Given the description of an element on the screen output the (x, y) to click on. 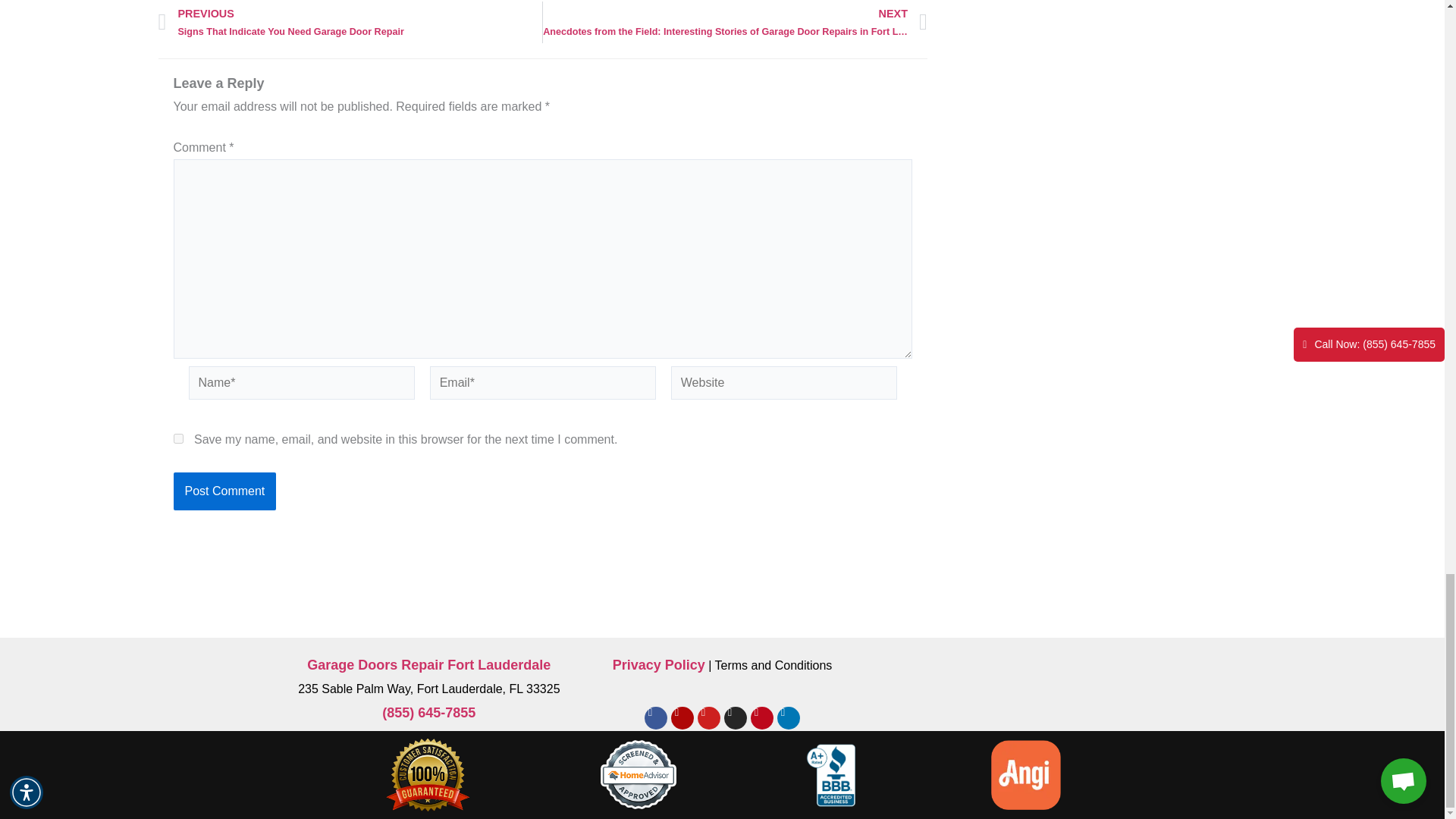
yes (178, 438)
Fort Lauderdale, Florida, USA (1015, 709)
Post Comment (224, 491)
